Given the description of an element on the screen output the (x, y) to click on. 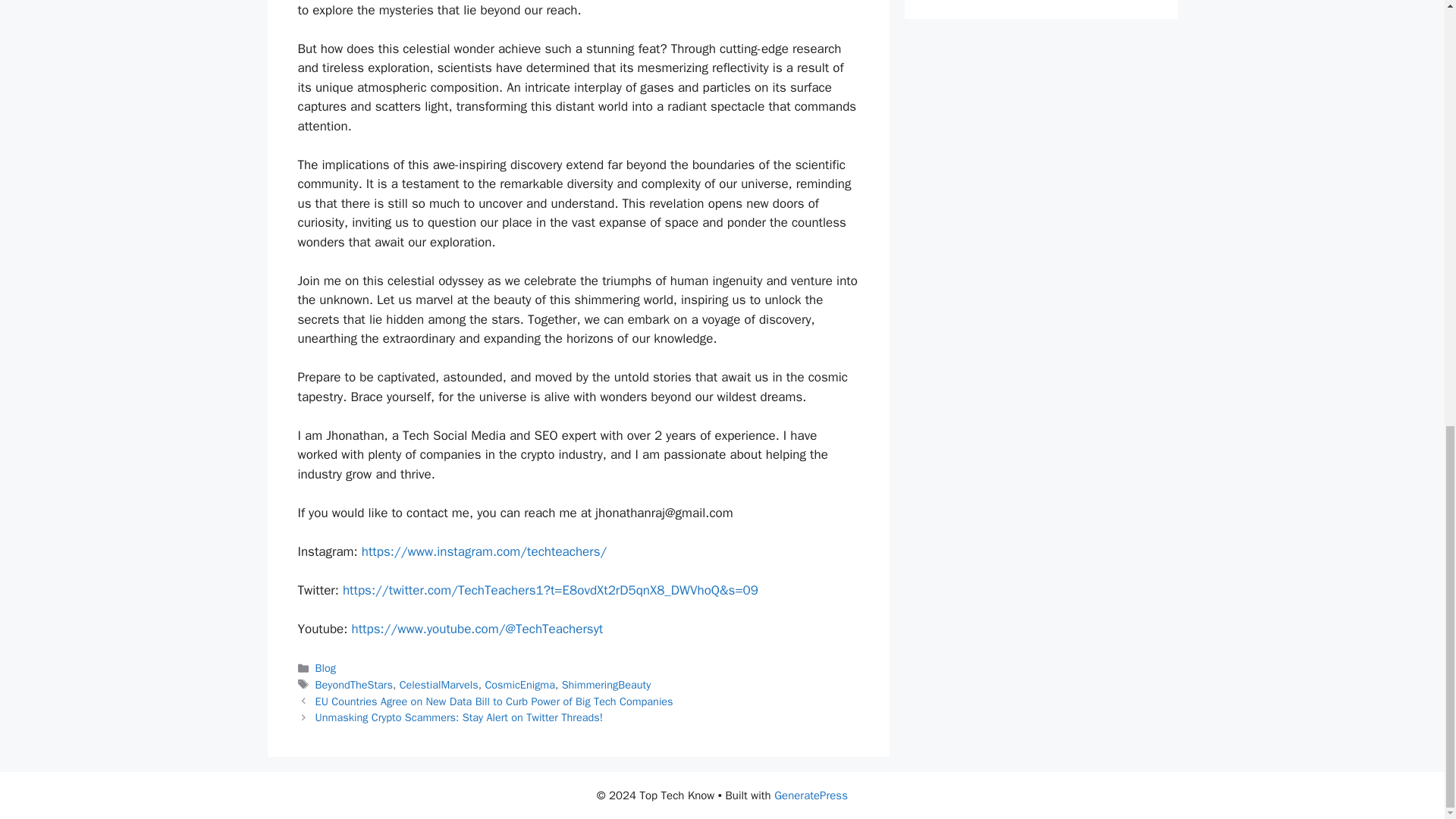
ShimmeringBeauty (606, 684)
GeneratePress (810, 795)
Unmasking Crypto Scammers: Stay Alert on Twitter Threads! (459, 716)
Blog (325, 667)
CosmicEnigma (519, 684)
CelestialMarvels (438, 684)
BeyondTheStars (354, 684)
